Given the description of an element on the screen output the (x, y) to click on. 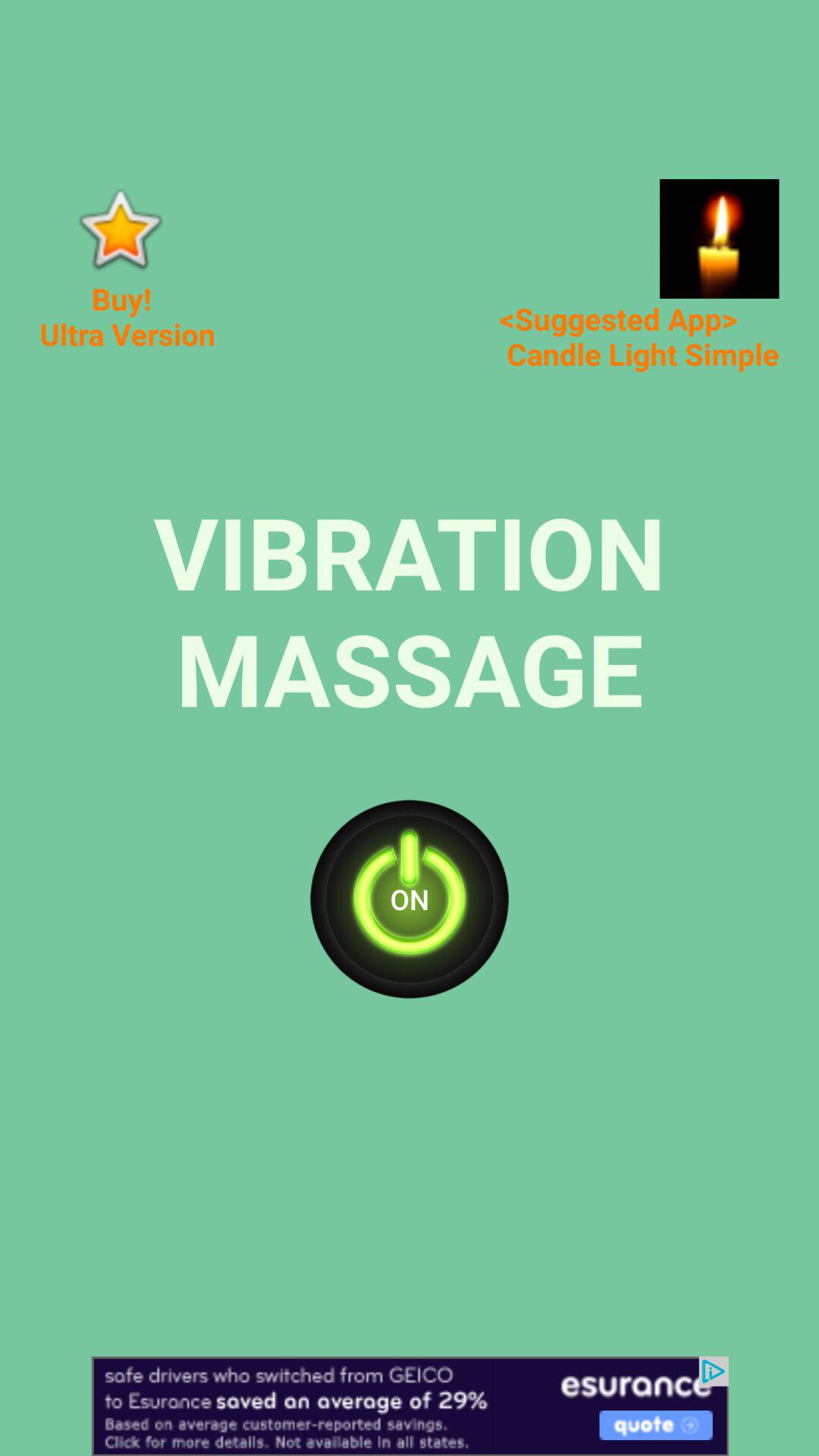
suggested page (719, 238)
